Given the description of an element on the screen output the (x, y) to click on. 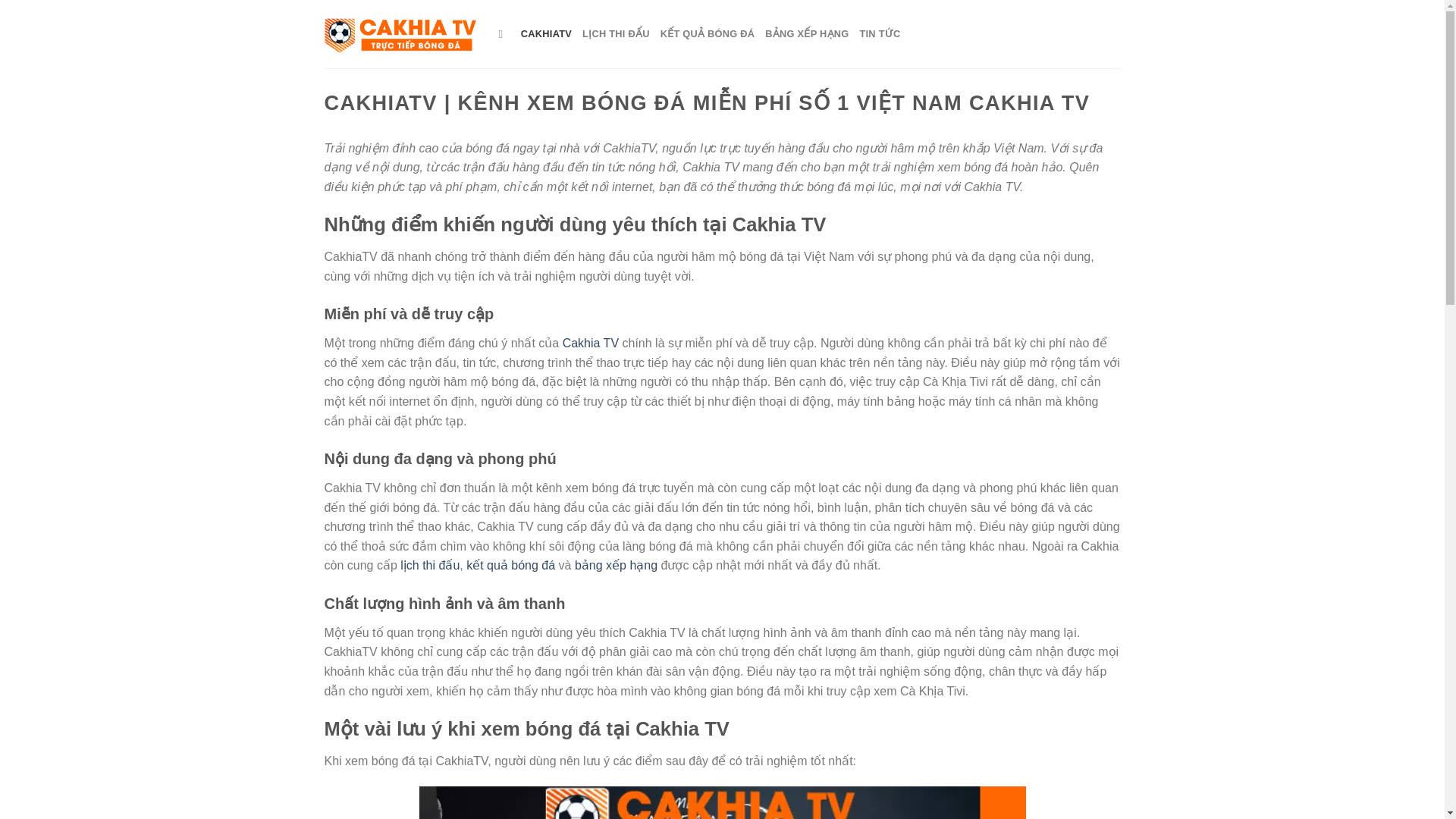
Cakhia TV (590, 342)
CAKHIATV (546, 33)
